Given the description of an element on the screen output the (x, y) to click on. 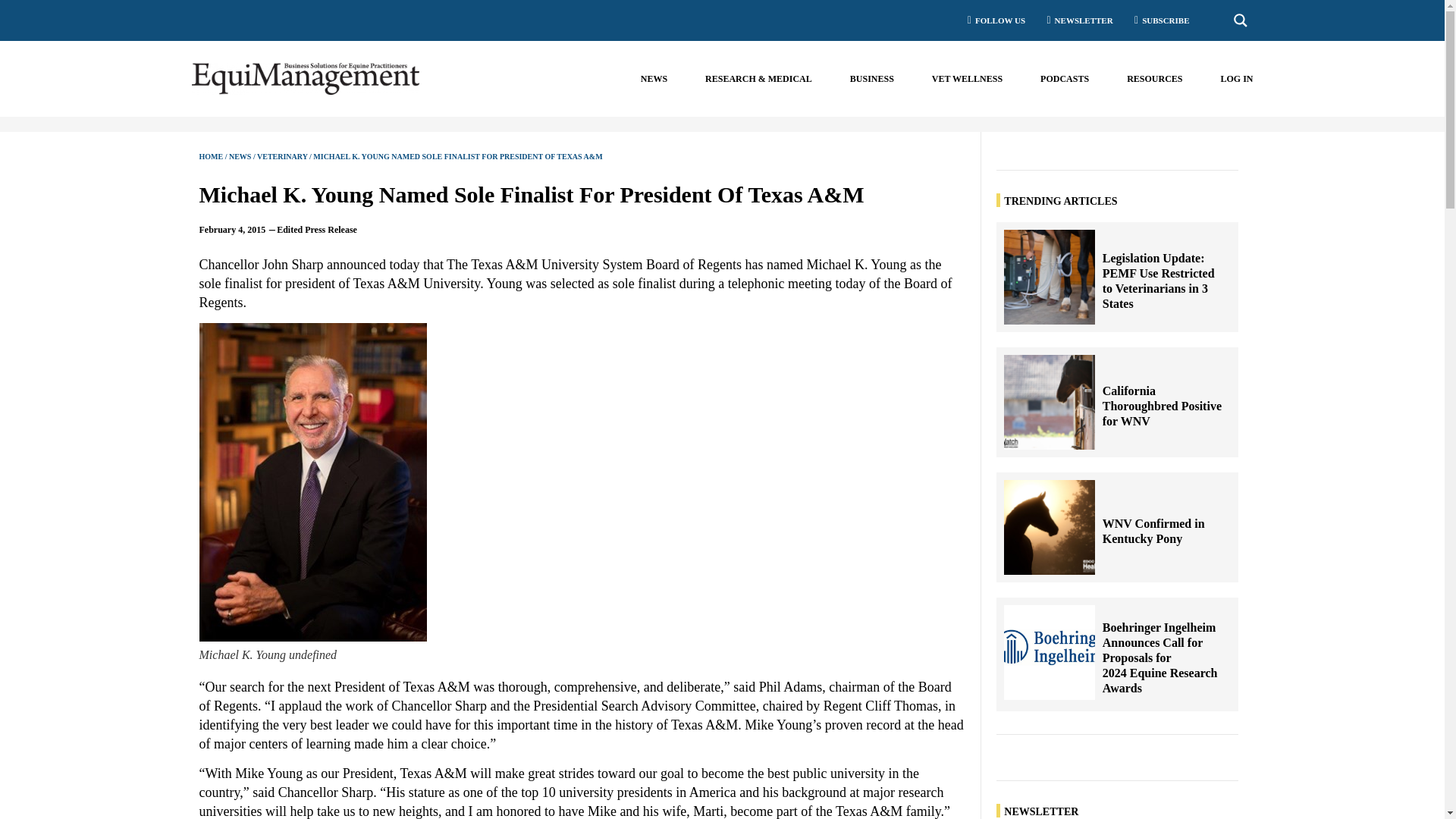
VET WELLNESS (967, 79)
NEWS (653, 79)
NEWSLETTER (1074, 20)
WNV Confirmed in Kentucky Pony (1162, 530)
BUSINESS (871, 79)
California Thoroughbred Positive for WNV (1049, 401)
WNV Confirmed in Kentucky Pony (1049, 526)
